Given the description of an element on the screen output the (x, y) to click on. 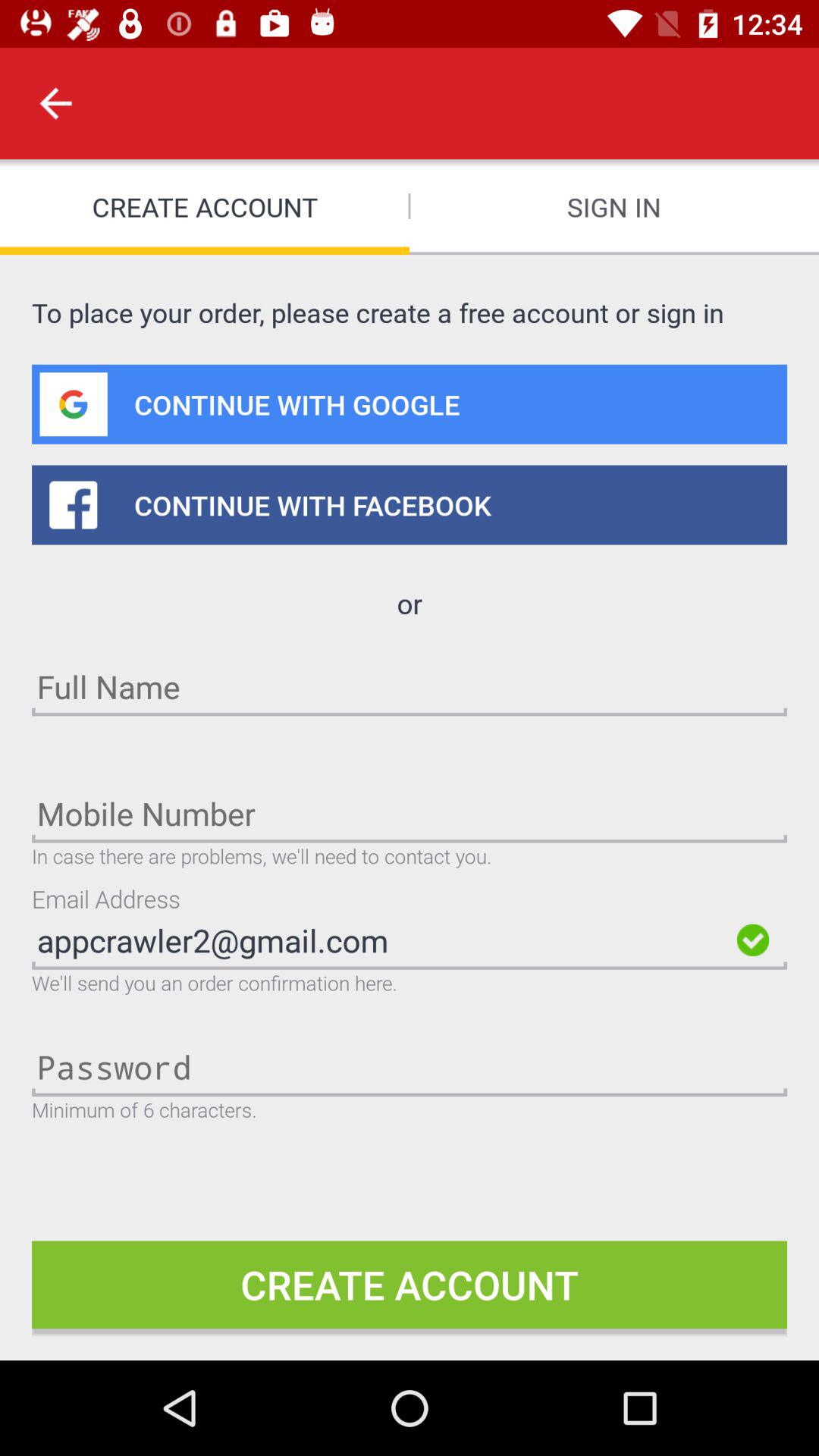
type full name (409, 686)
